Given the description of an element on the screen output the (x, y) to click on. 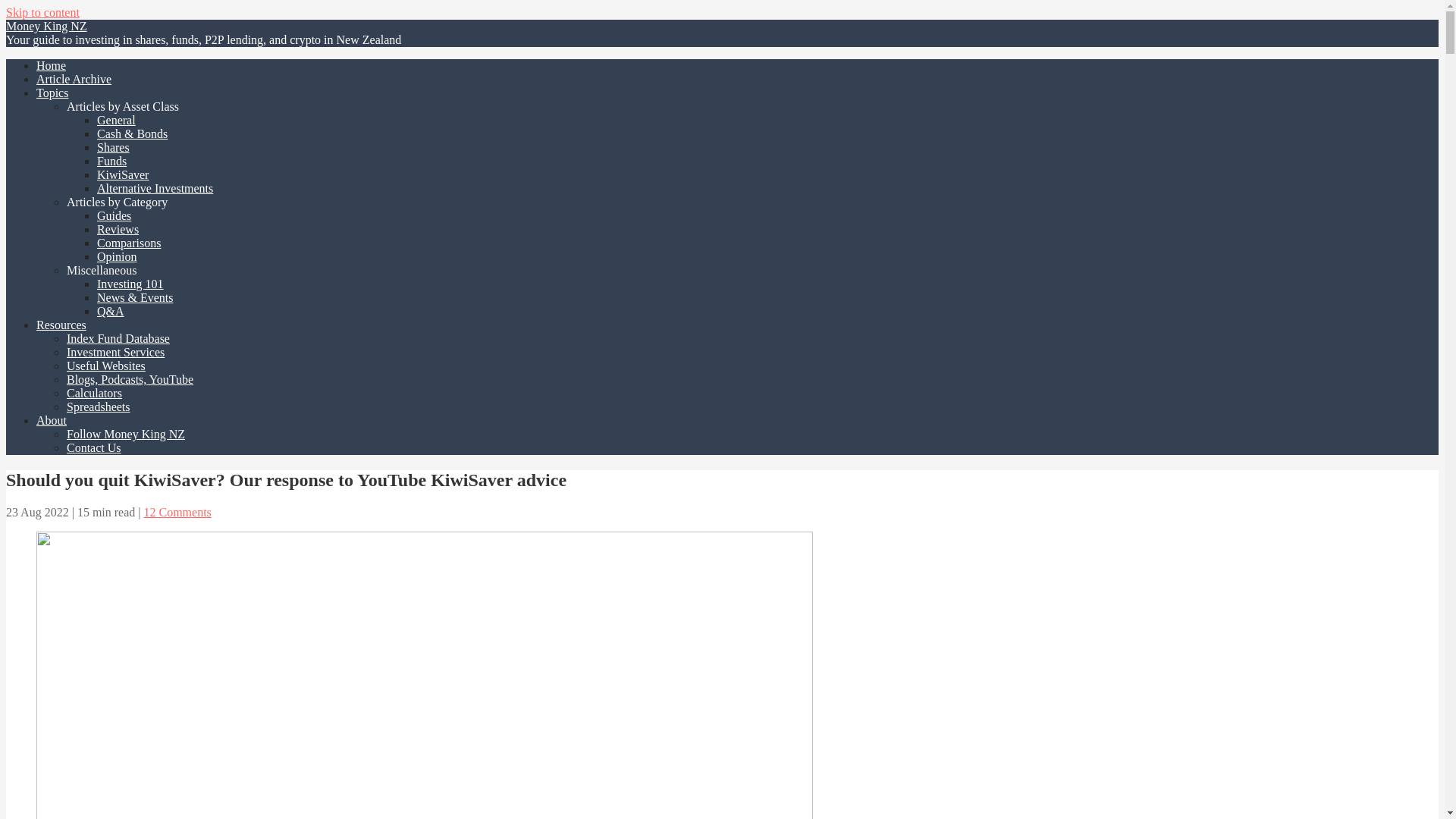
Opinion (116, 256)
Index Fund Database (118, 338)
Skip to content (42, 11)
KiwiSaver (122, 174)
Home (50, 65)
Investment Services (115, 351)
Follow Money King NZ (125, 433)
Useful Websites (105, 365)
Spreadsheets (98, 406)
Alternative Investments (154, 187)
Article Archive (74, 78)
12 Comments (177, 512)
Articles by Asset Class (122, 106)
About (51, 420)
Guides (114, 215)
